Given the description of an element on the screen output the (x, y) to click on. 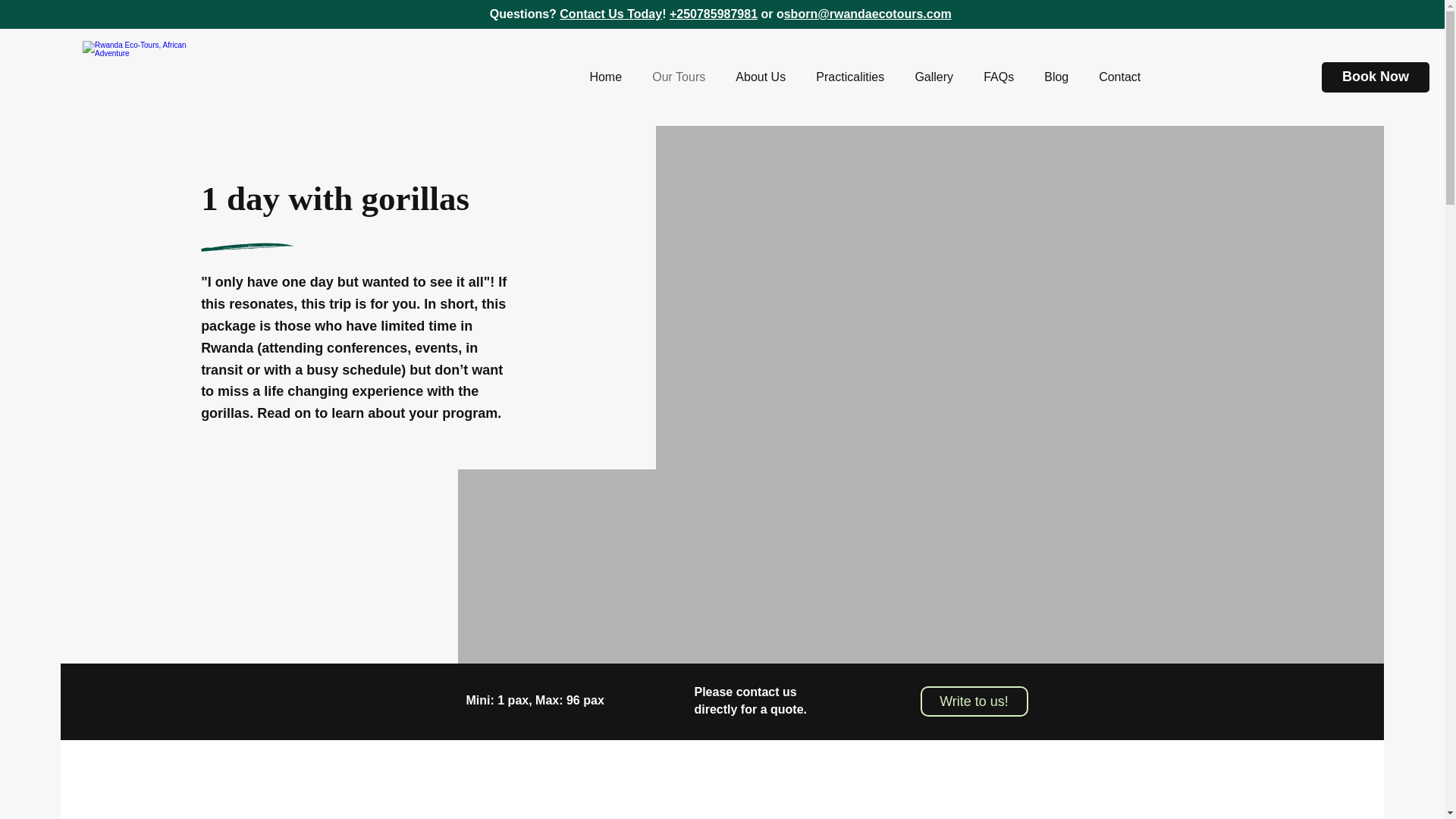
Book Now (1375, 77)
FAQs (998, 77)
Gallery (933, 77)
Contact (1119, 77)
Blog (1056, 77)
About Us (760, 77)
Our Tours (678, 77)
Home (605, 77)
Practicalities (849, 77)
Contact Us Today (610, 13)
